Given the description of an element on the screen output the (x, y) to click on. 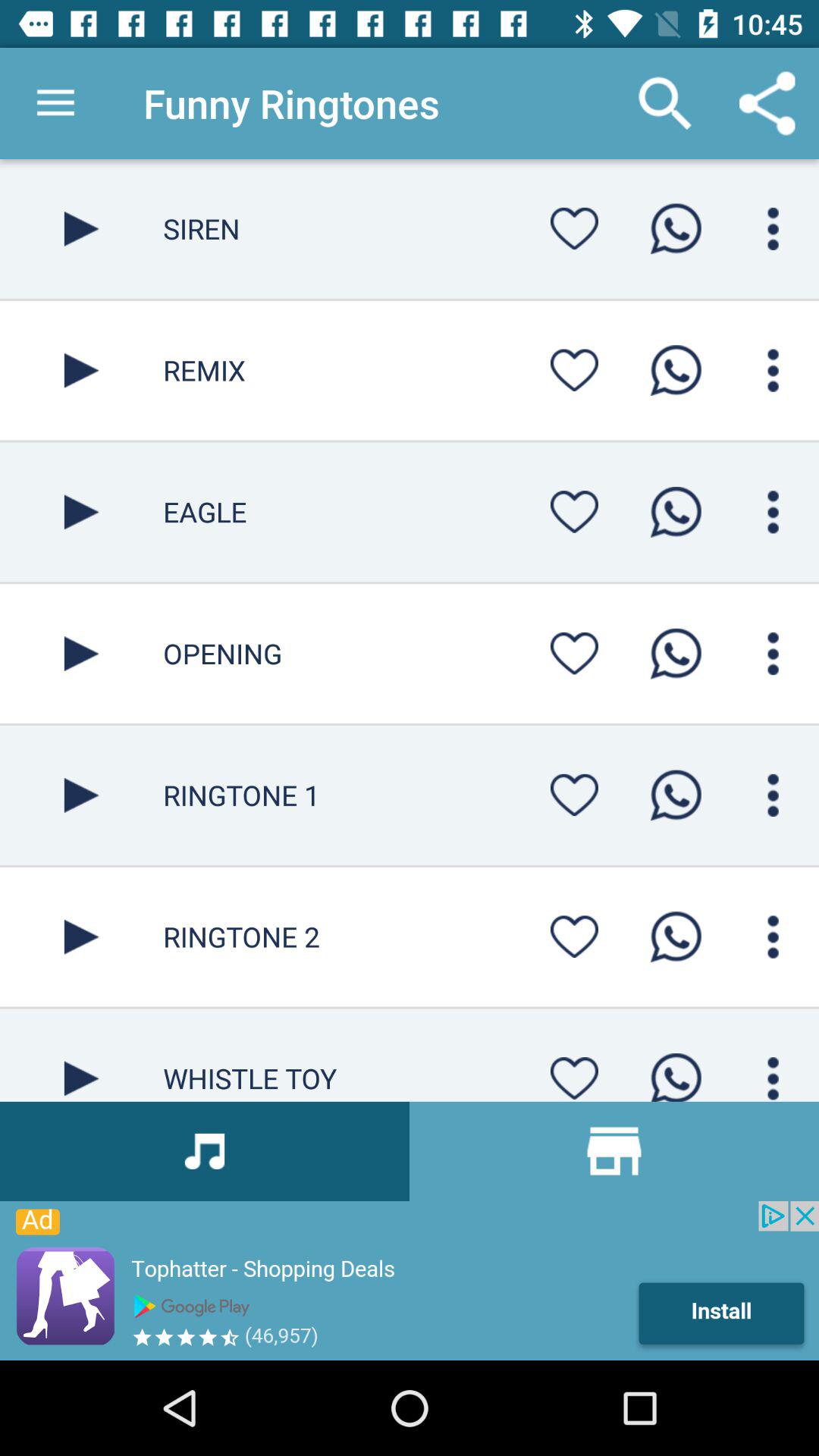
whatsapp image (675, 653)
